Given the description of an element on the screen output the (x, y) to click on. 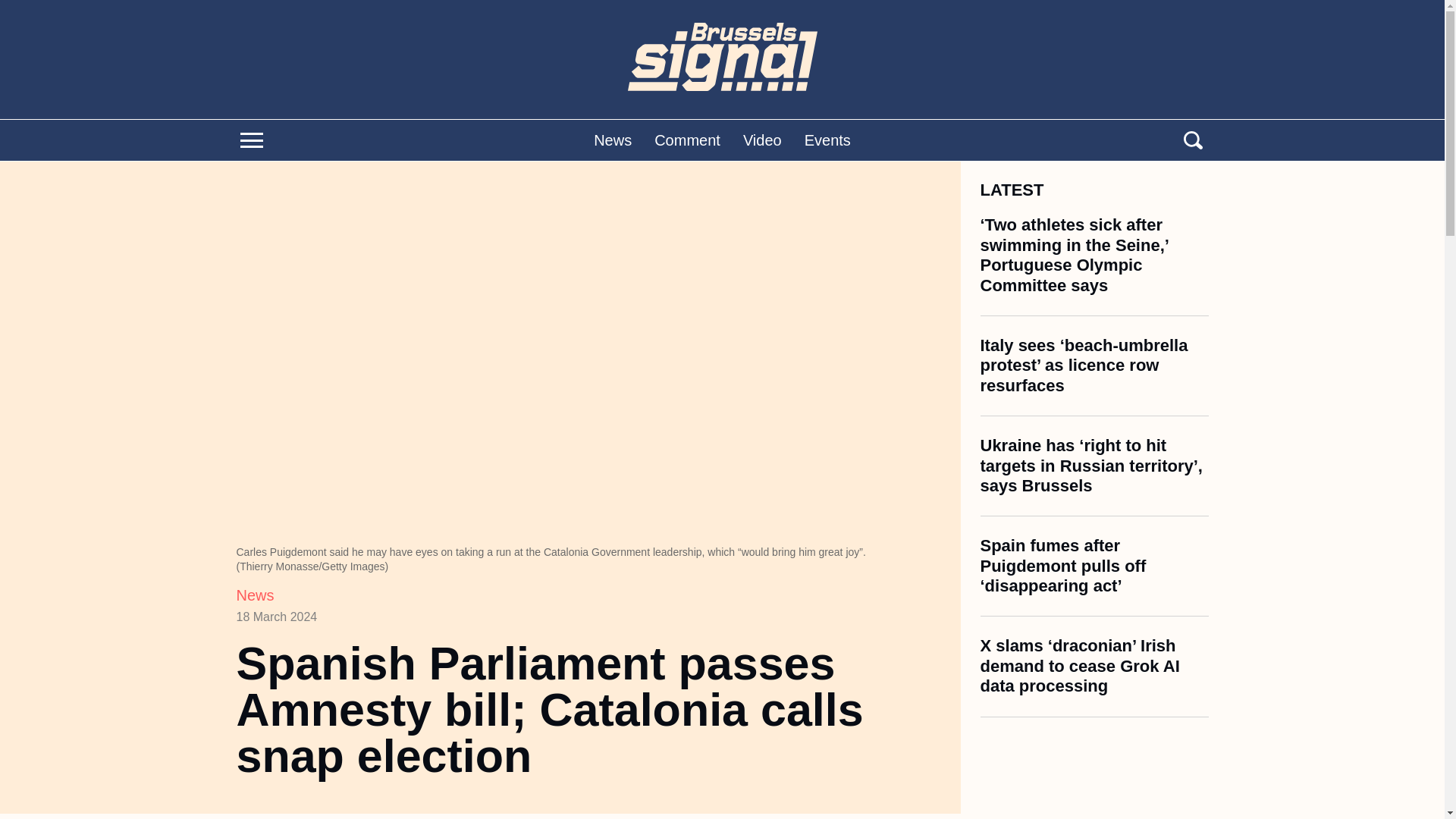
Comment (686, 140)
News (612, 140)
Video (761, 140)
Events (827, 140)
News (255, 595)
